Given the description of an element on the screen output the (x, y) to click on. 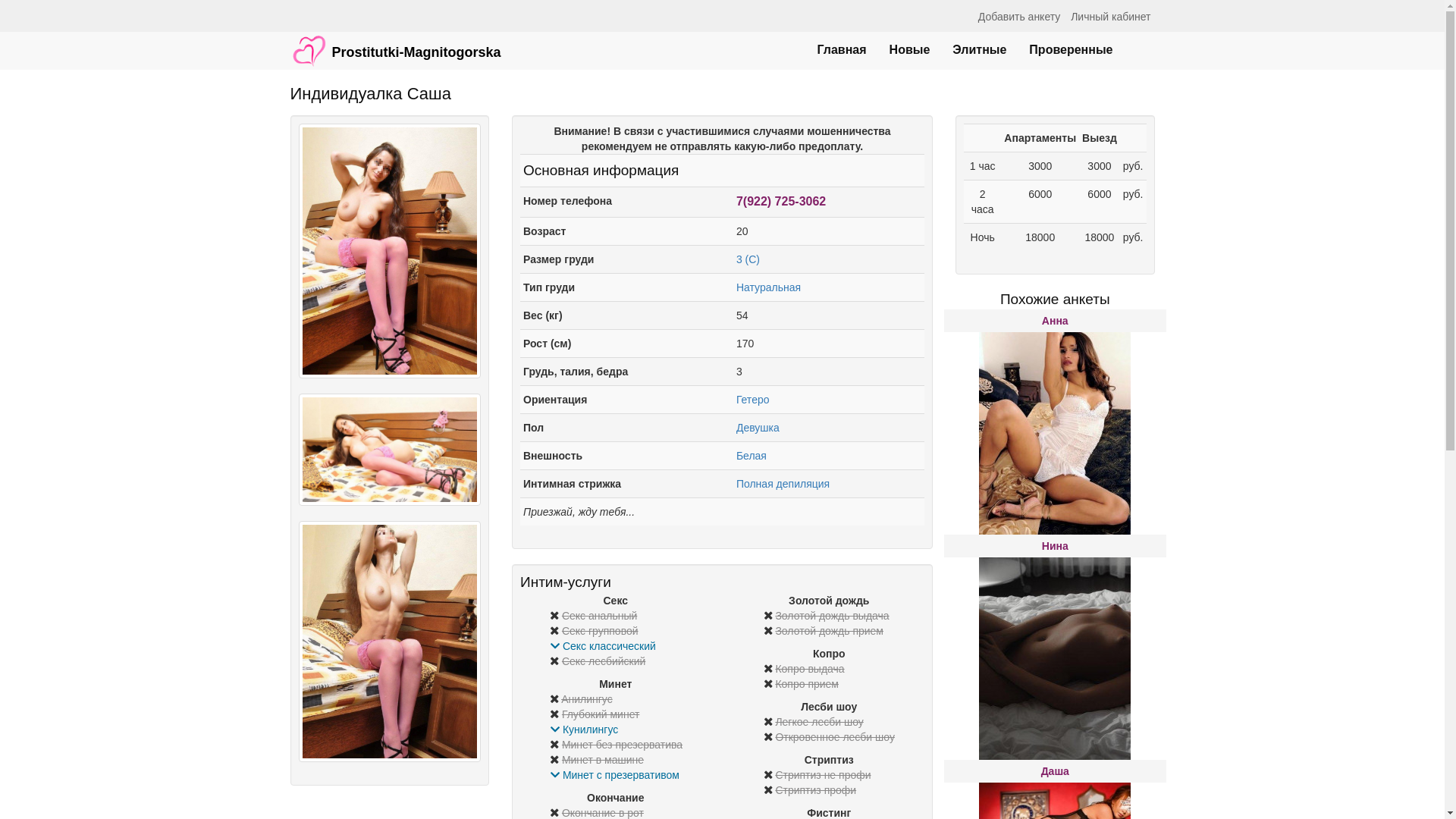
3 (C) Element type: text (747, 259)
Prostitutki-Magnitogorska Element type: text (395, 43)
